Given the description of an element on the screen output the (x, y) to click on. 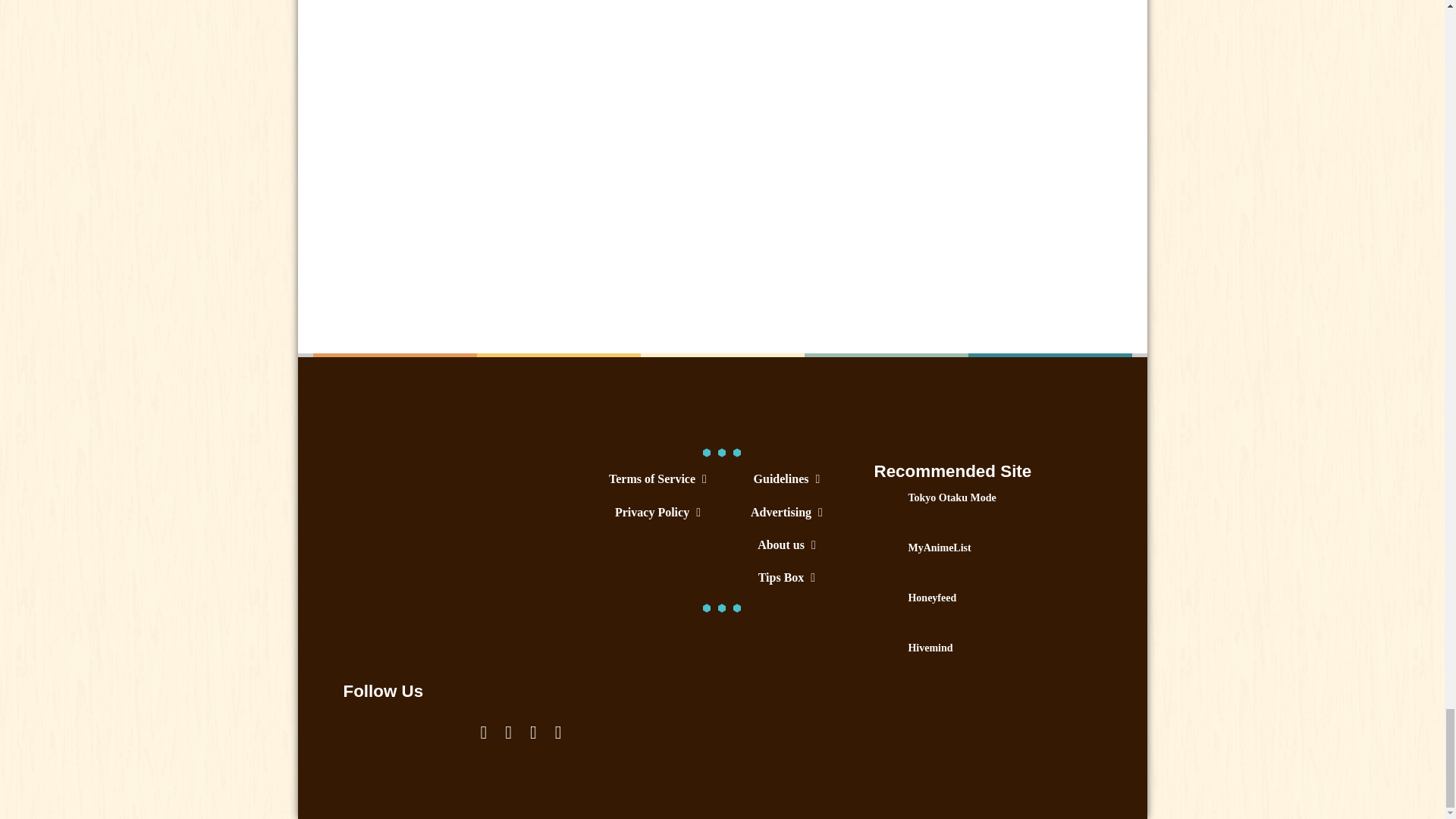
Guidelines (786, 478)
Privacy Policy (657, 512)
Terms of Service Agreement (657, 478)
